Given the description of an element on the screen output the (x, y) to click on. 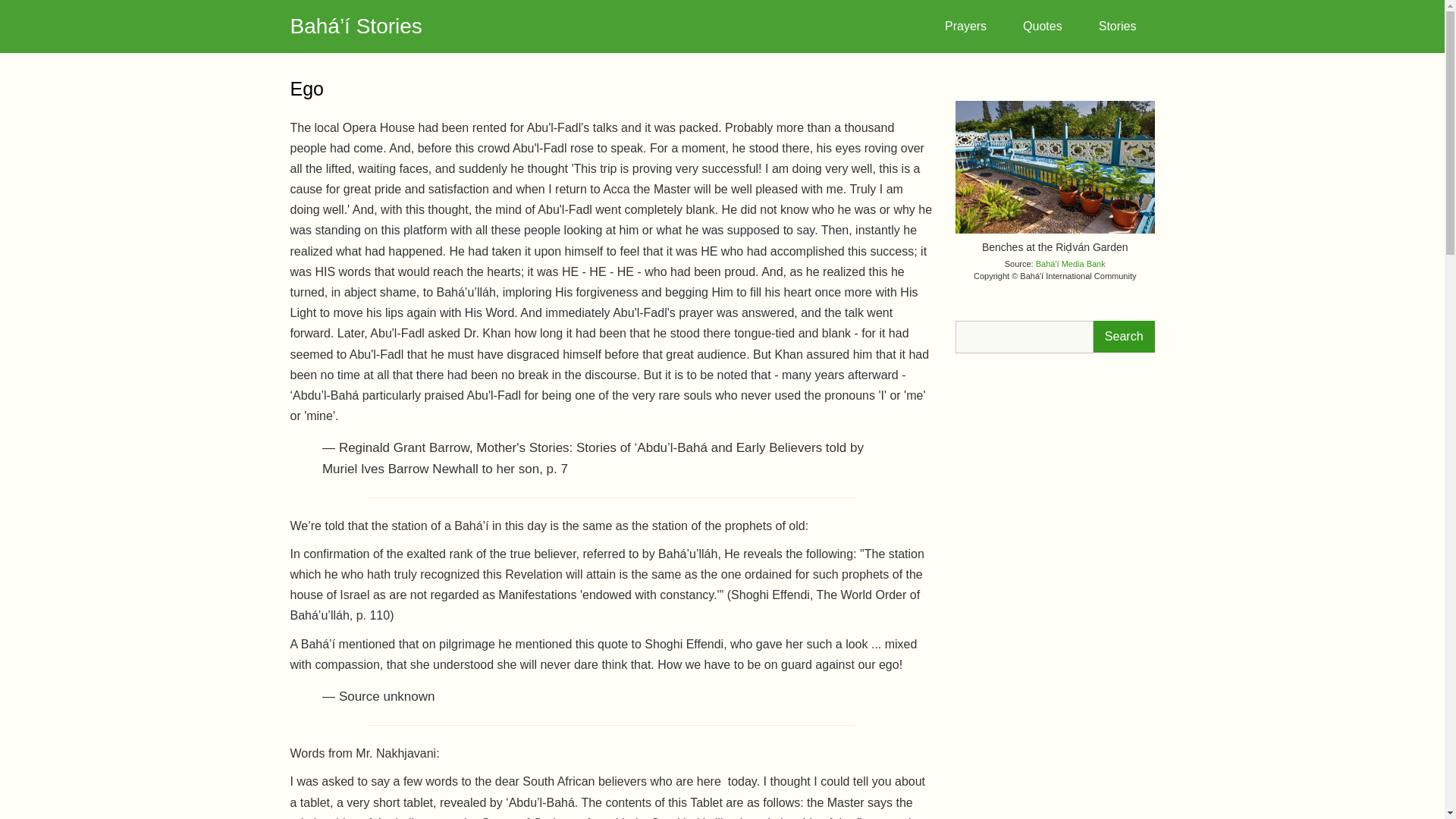
Stories (1117, 26)
Enter the terms you wish to search for. (1024, 336)
Search (1123, 336)
Quotes (1042, 26)
Home (355, 25)
Prayers (965, 26)
Search (1123, 336)
